Given the description of an element on the screen output the (x, y) to click on. 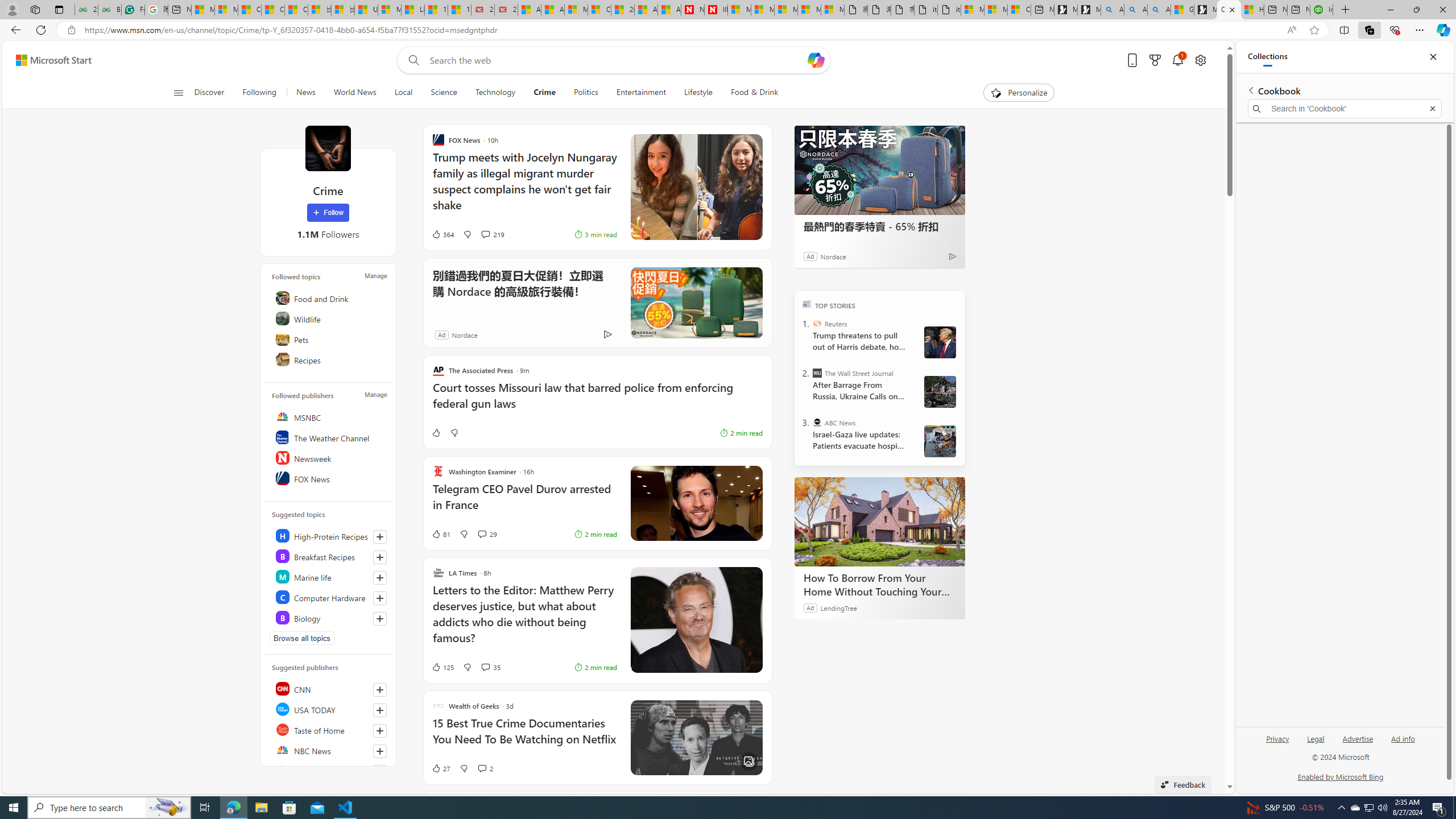
USA TODAY - MSN (365, 9)
15 Ways Modern Life Contradicts the Teachings of Jesus (459, 9)
The Wall Street Journal (816, 372)
NBC News (328, 750)
